Given the description of an element on the screen output the (x, y) to click on. 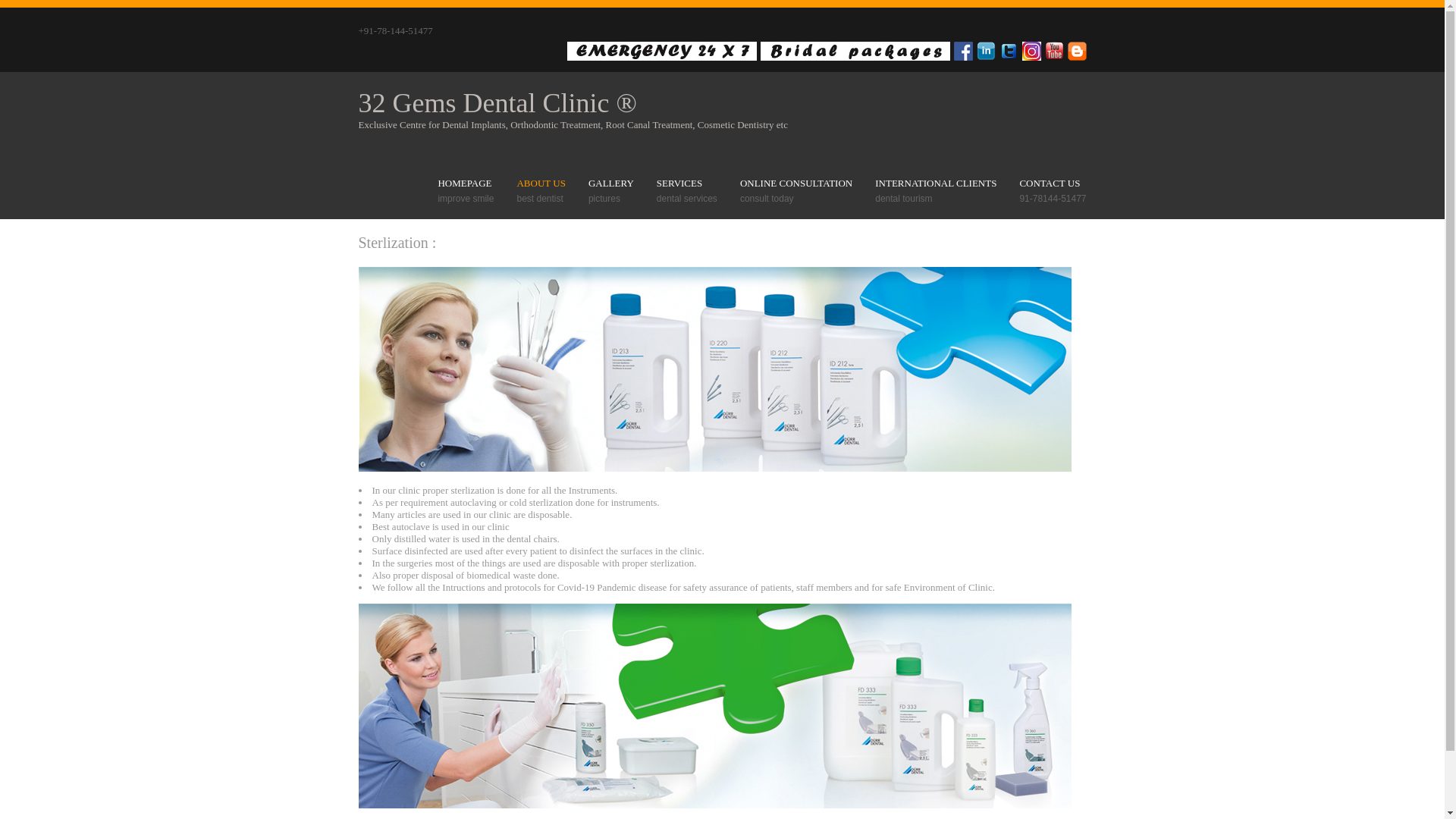
ABOUT US Element type: text (540, 183)
HOMEPAGE Element type: text (465, 183)
CONTACT US Element type: text (1052, 183)
SERVICES Element type: text (686, 183)
INTERNATIONAL CLIENTS Element type: text (935, 183)
ONLINE CONSULTATION Element type: text (796, 183)
GALLERY Element type: text (610, 183)
